Given the description of an element on the screen output the (x, y) to click on. 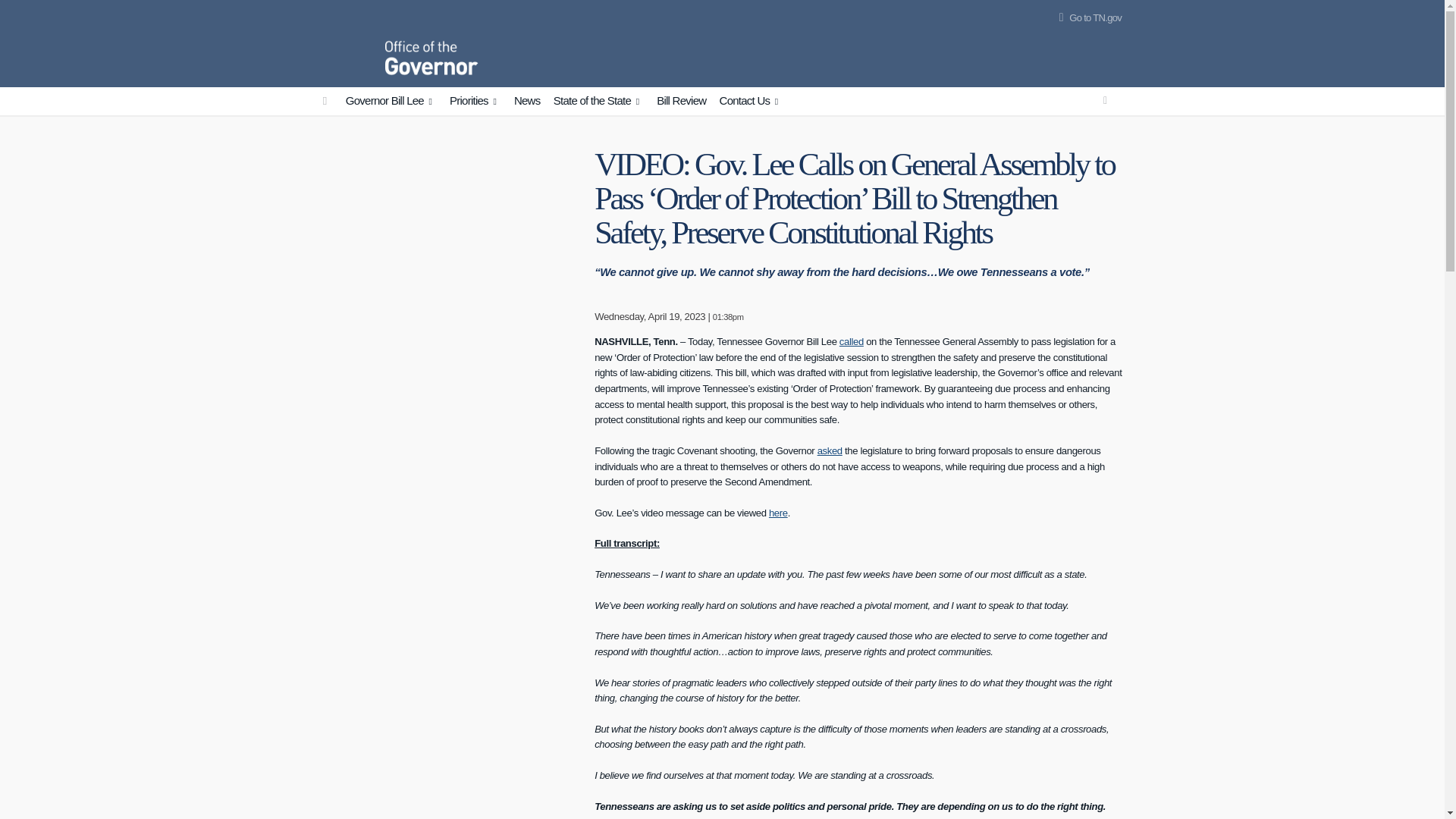
Bill Review (680, 100)
State of the State (598, 101)
asked (829, 450)
called (851, 341)
Go to Governor (324, 100)
Print This Page (1105, 100)
Home (347, 41)
Governor Bill Lee (391, 101)
Go to TN.gov (1086, 18)
here (777, 512)
News (527, 100)
Contact Us (750, 101)
Priorities (475, 101)
